Given the description of an element on the screen output the (x, y) to click on. 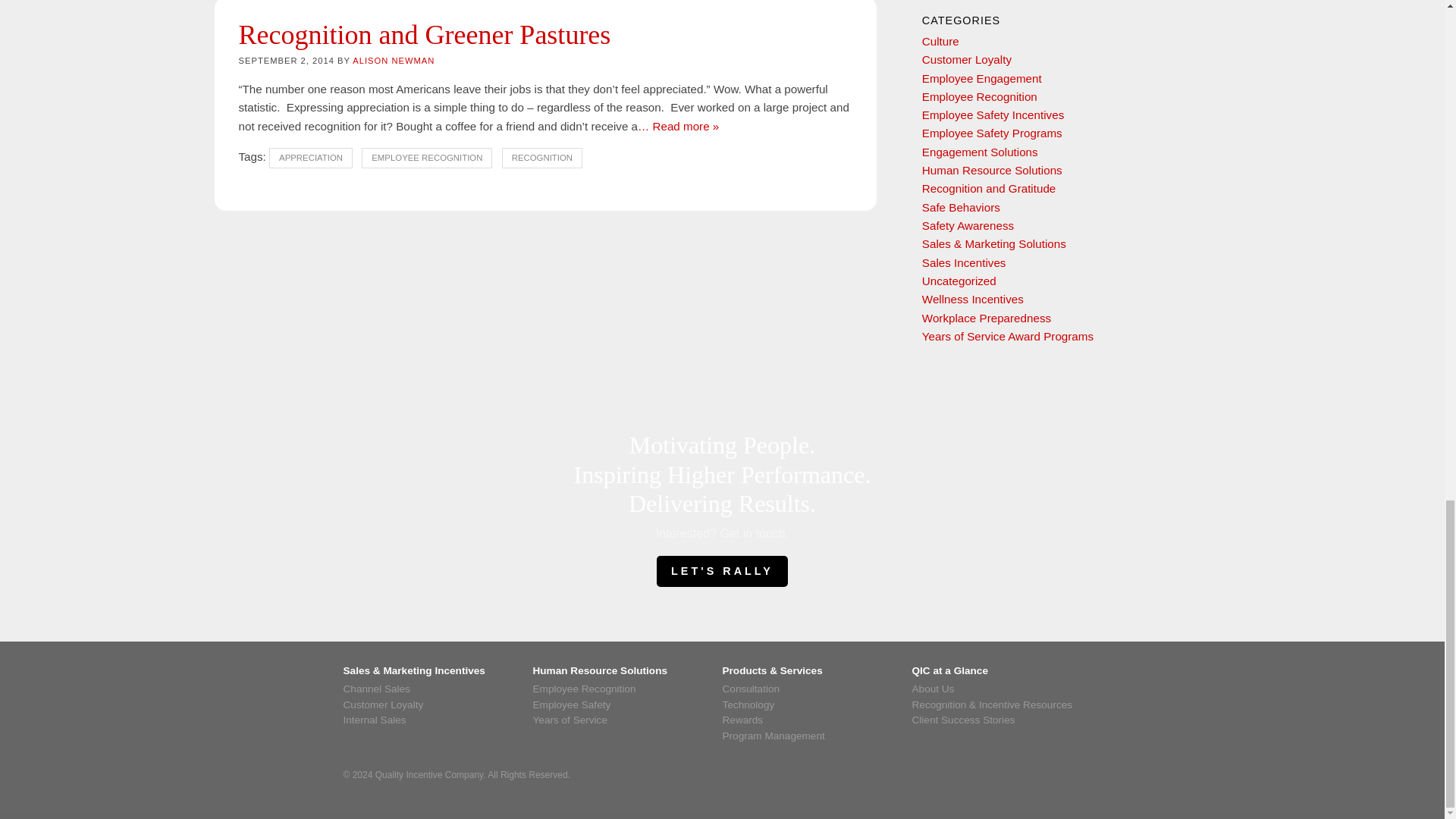
QIC Customer Incentive Programs (437, 704)
ReadRecognition and Greener Pastures (678, 125)
Posts by Alison Newman (392, 60)
QIC Channel Sales Incentive Programs (437, 688)
Recognition and Greener Pastures (424, 34)
